Given the description of an element on the screen output the (x, y) to click on. 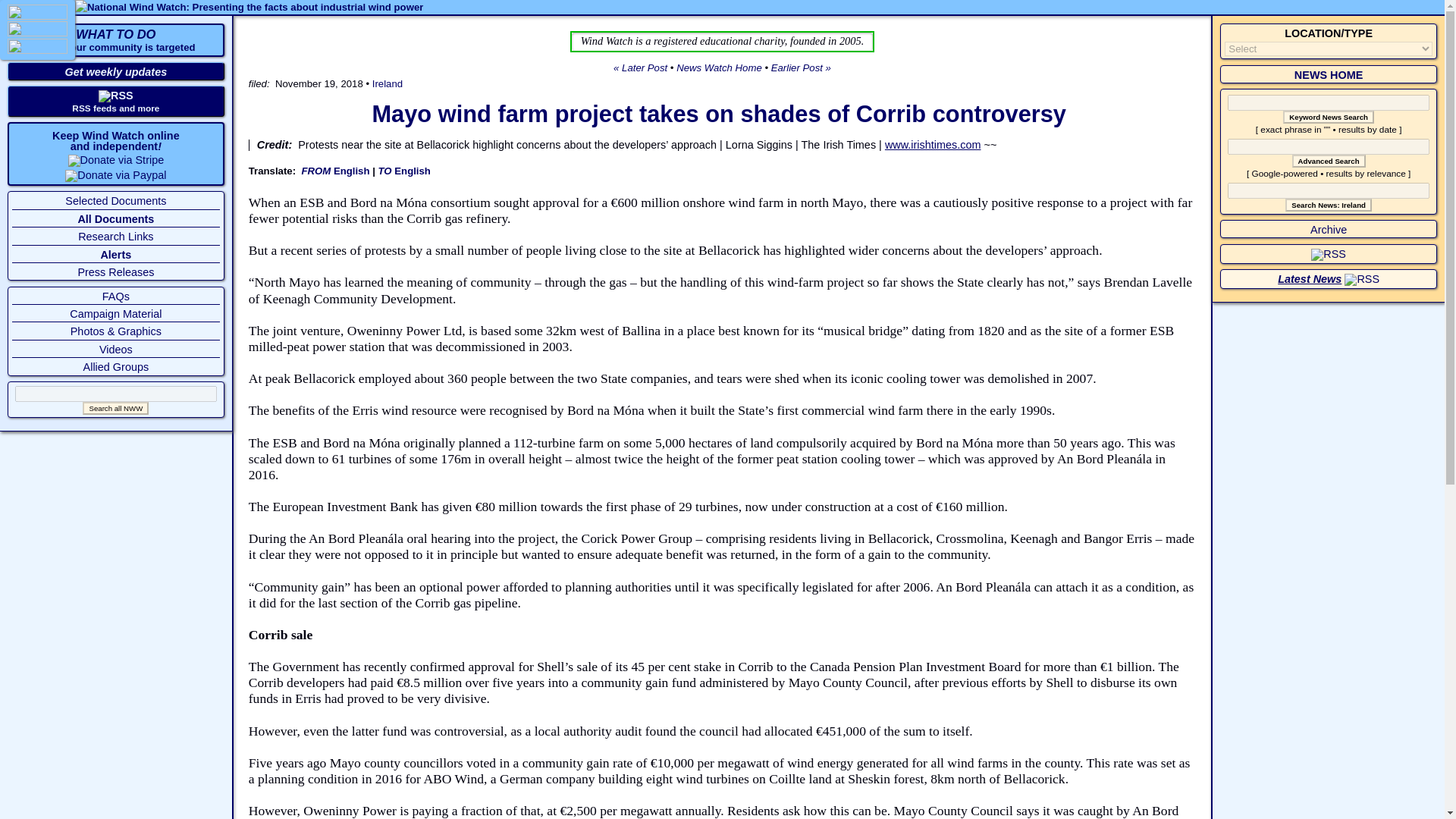
Search News: Ireland (1328, 205)
Get weekly updates (116, 71)
Advanced Search (1328, 160)
Search all NWW (115, 408)
NEWS HOME (1328, 74)
Campaign Material (115, 313)
Press Releases (115, 272)
RSS feeds and more (114, 108)
Ireland (387, 83)
Alerts (115, 254)
